Given the description of an element on the screen output the (x, y) to click on. 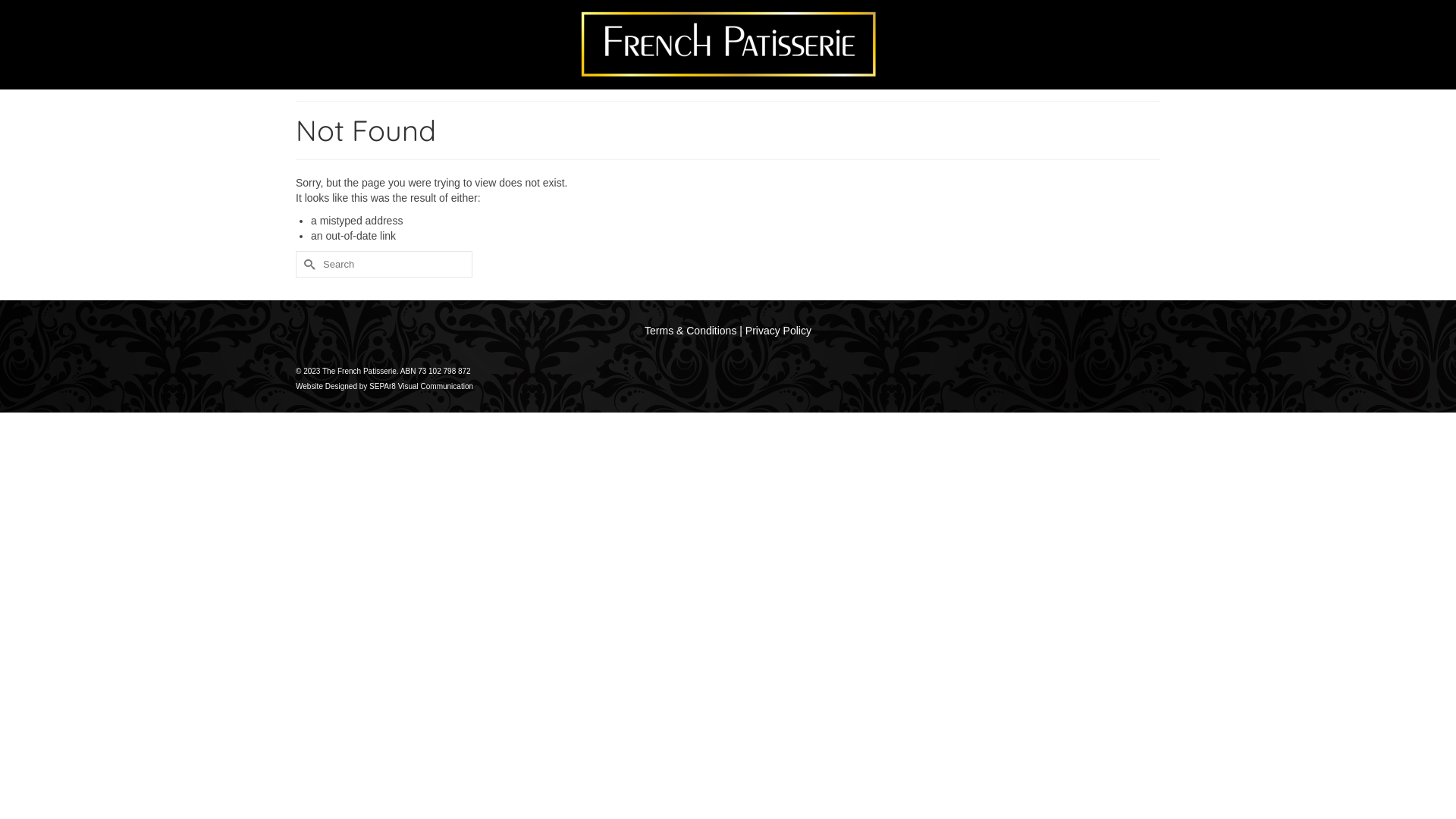
Terms & Conditions Element type: text (690, 330)
Privacy Policy Element type: text (778, 330)
The French Patisserie Element type: hover (727, 44)
SEPAr8 Visual Communication Element type: text (421, 386)
